Given the description of an element on the screen output the (x, y) to click on. 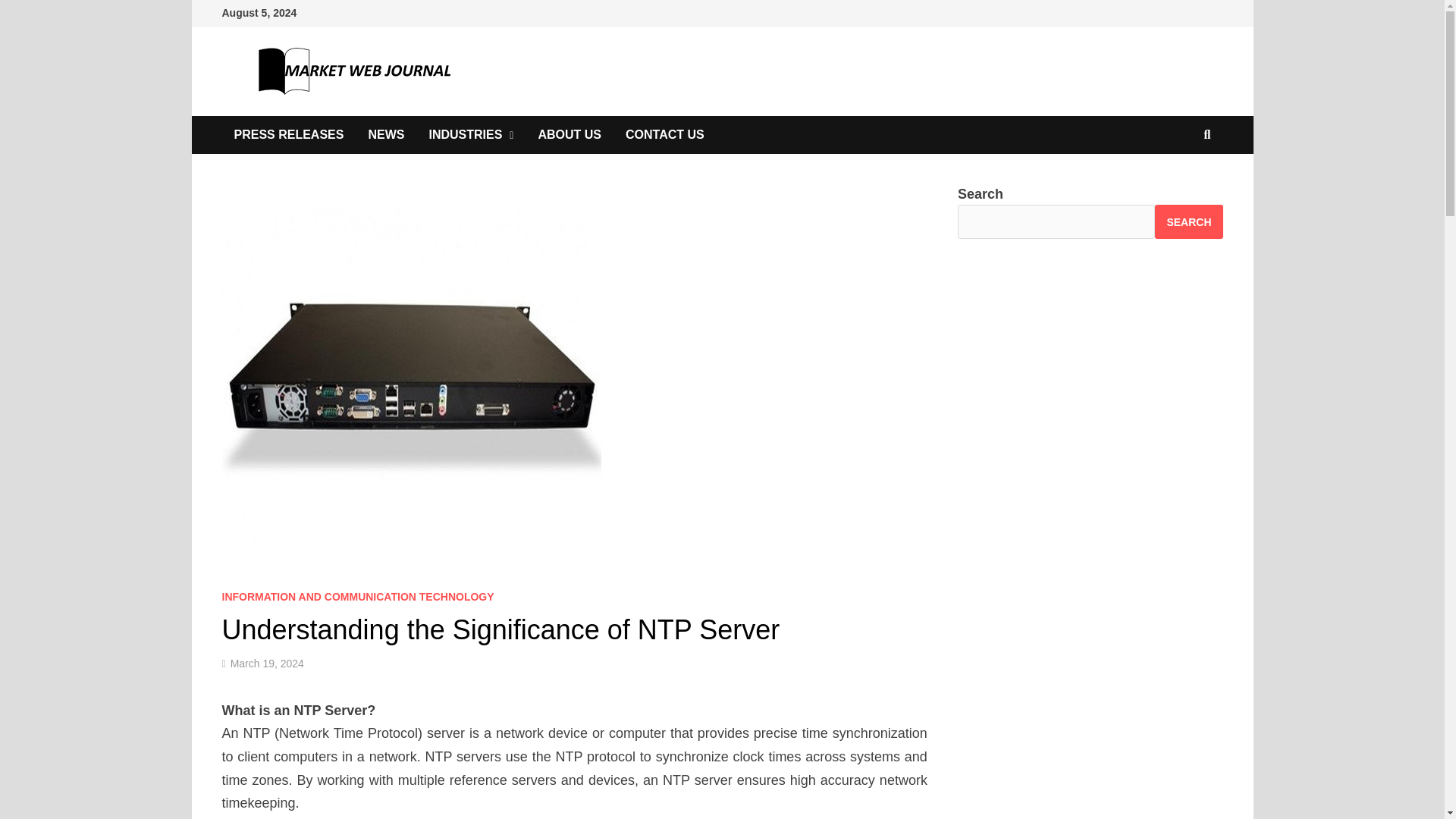
INDUSTRIES (470, 134)
NEWS (385, 134)
ABOUT US (568, 134)
PRESS RELEASES (288, 134)
CONTACT US (664, 134)
